Given the description of an element on the screen output the (x, y) to click on. 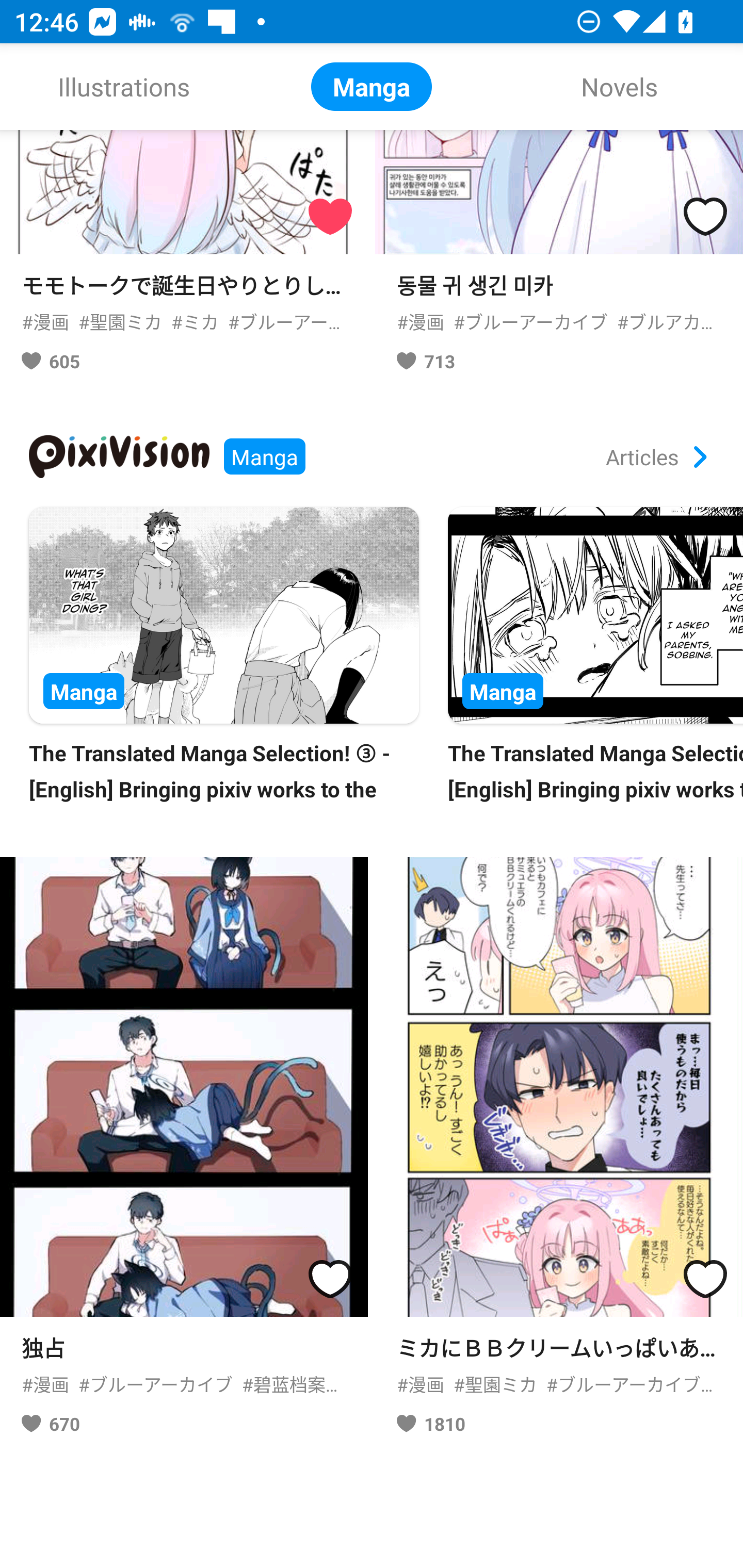
Illustrations (123, 86)
Manga (371, 86)
Novels (619, 86)
동물 귀 생긴 미카 #漫画  #ブルーアーカイブ  #ブルアカ  #聖園ミカ 713 (559, 258)
Articles (655, 456)
独占 #漫画  #ブルーアーカイブ  #碧蓝档案  #BlueArchive 670 (183, 1152)
